Given the description of an element on the screen output the (x, y) to click on. 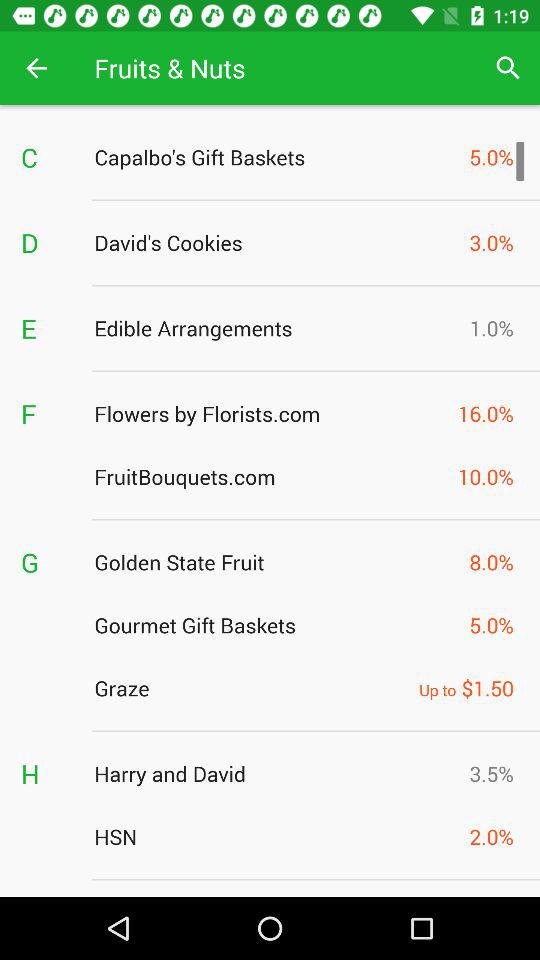
launch the icon next to up to 1 (251, 688)
